Given the description of an element on the screen output the (x, y) to click on. 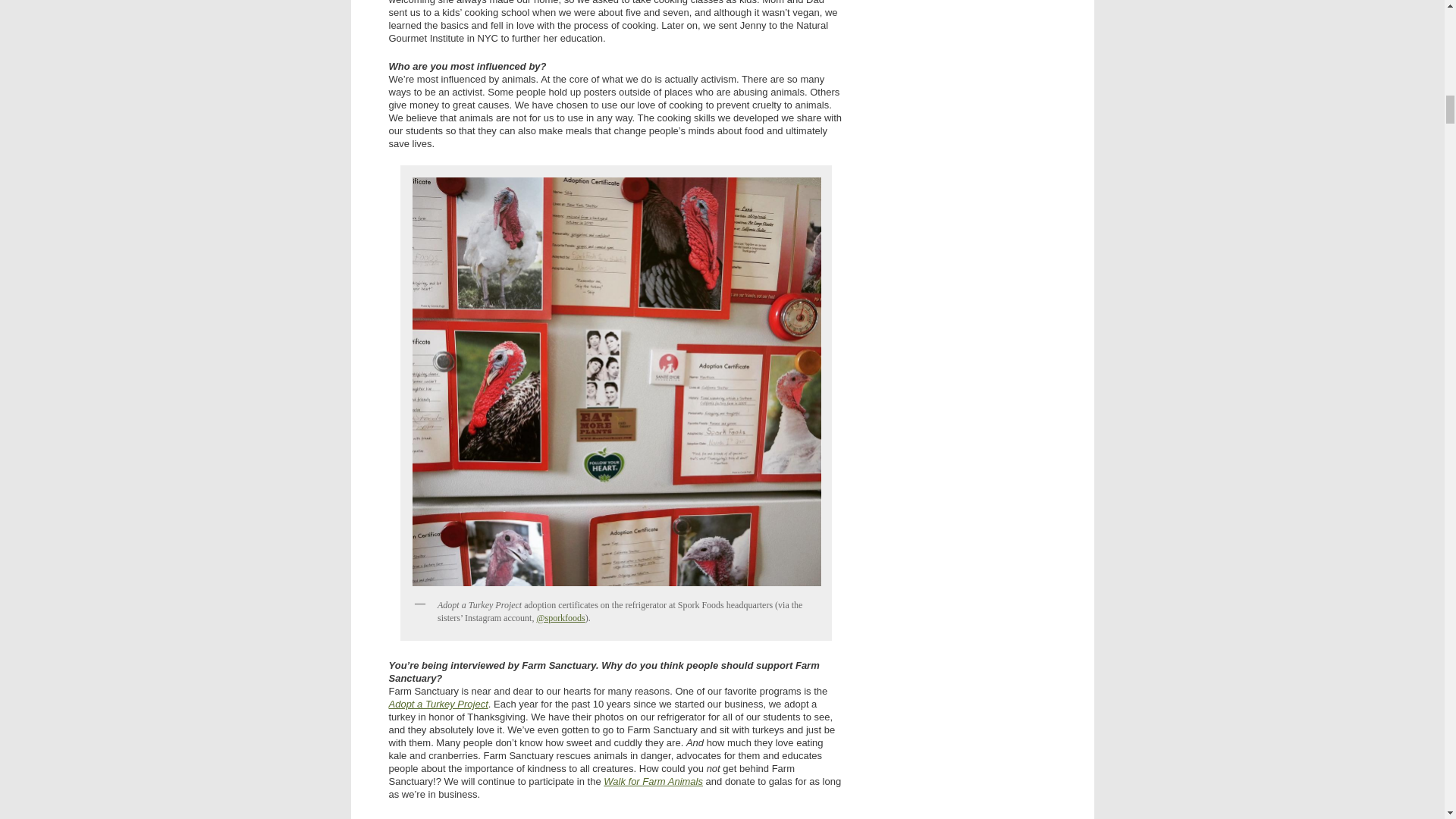
Adopt a Turkey Project (437, 704)
Walk for Farm Animals (653, 781)
